Given the description of an element on the screen output the (x, y) to click on. 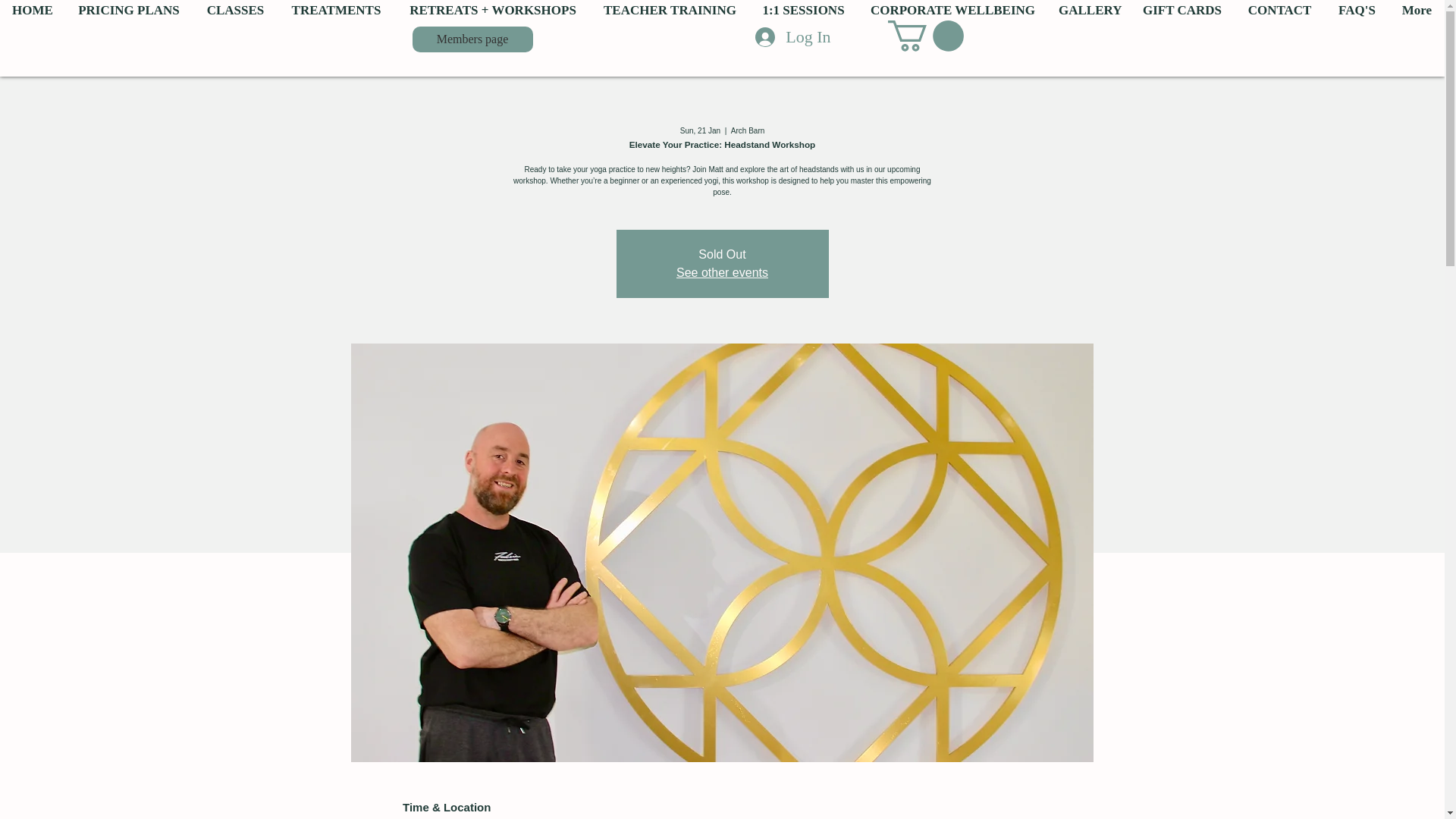
CONTACT (1279, 10)
Members page (472, 39)
TEACHER TRAINING (669, 10)
TREATMENTS (336, 10)
See other events (722, 272)
CLASSES (235, 10)
1:1 SESSIONS (803, 10)
PRICING PLANS (128, 10)
GIFT CARDS (1181, 10)
FAQ'S (1356, 10)
Log In (792, 36)
CORPORATE WELLBEING (952, 10)
GALLERY (1087, 10)
HOME (32, 10)
